Given the description of an element on the screen output the (x, y) to click on. 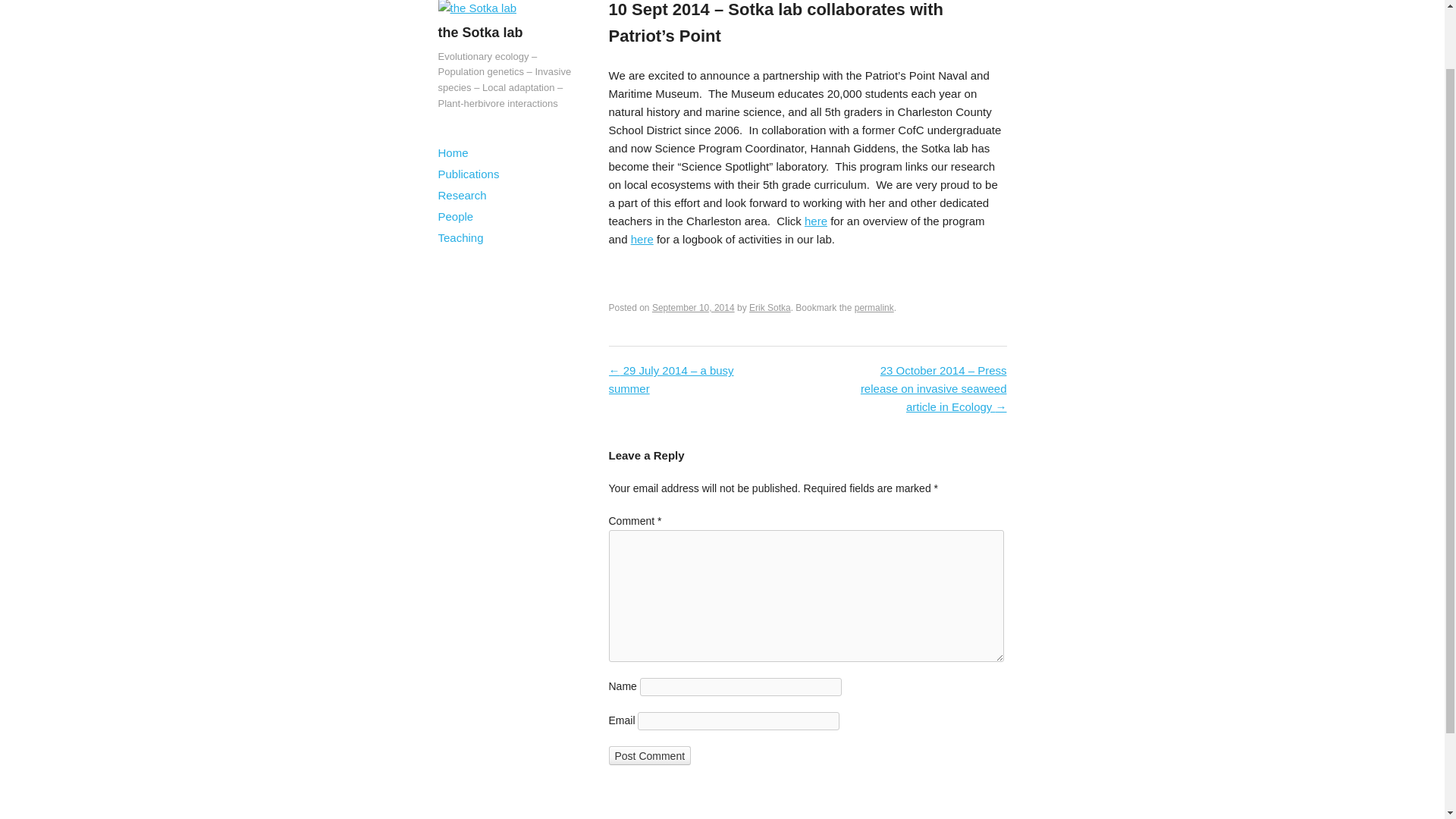
the Sotka lab (477, 7)
Post Comment (649, 755)
September 10, 2014 (693, 307)
here (641, 238)
Skip to content (475, 152)
Skip to content (475, 152)
View all posts by Erik Sotka (769, 307)
Teaching (506, 237)
Post Comment (649, 755)
20:38 (693, 307)
